Given the description of an element on the screen output the (x, y) to click on. 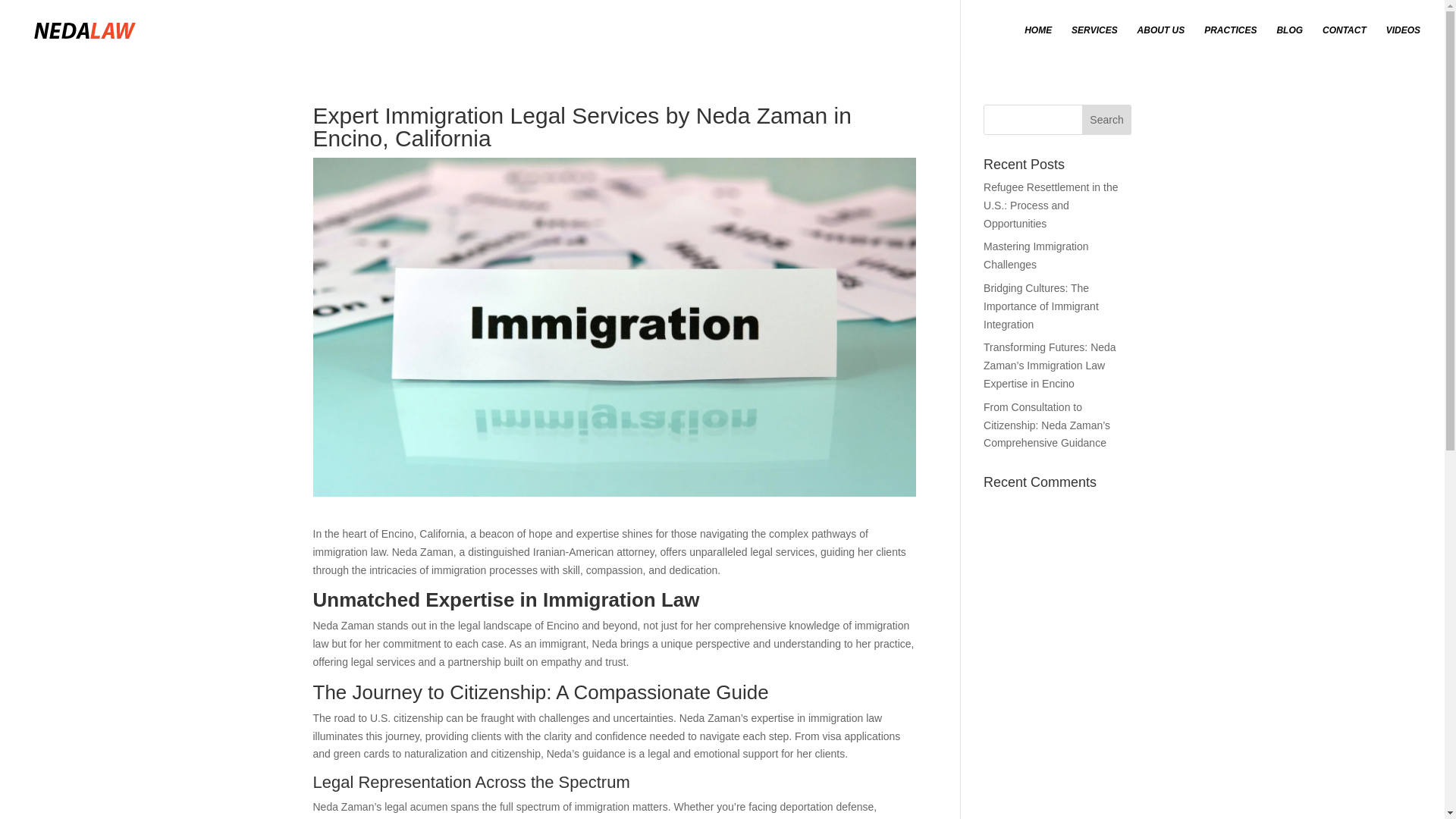
ABOUT US (1161, 42)
PRACTICES (1230, 42)
CONTACT (1344, 42)
Mastering Immigration Challenges (1036, 255)
Search (1106, 119)
Refugee Resettlement in the U.S.: Process and Opportunities (1051, 205)
SERVICES (1094, 42)
VIDEOS (1403, 42)
Bridging Cultures: The Importance of Immigrant Integration (1041, 305)
Search (1106, 119)
